Given the description of an element on the screen output the (x, y) to click on. 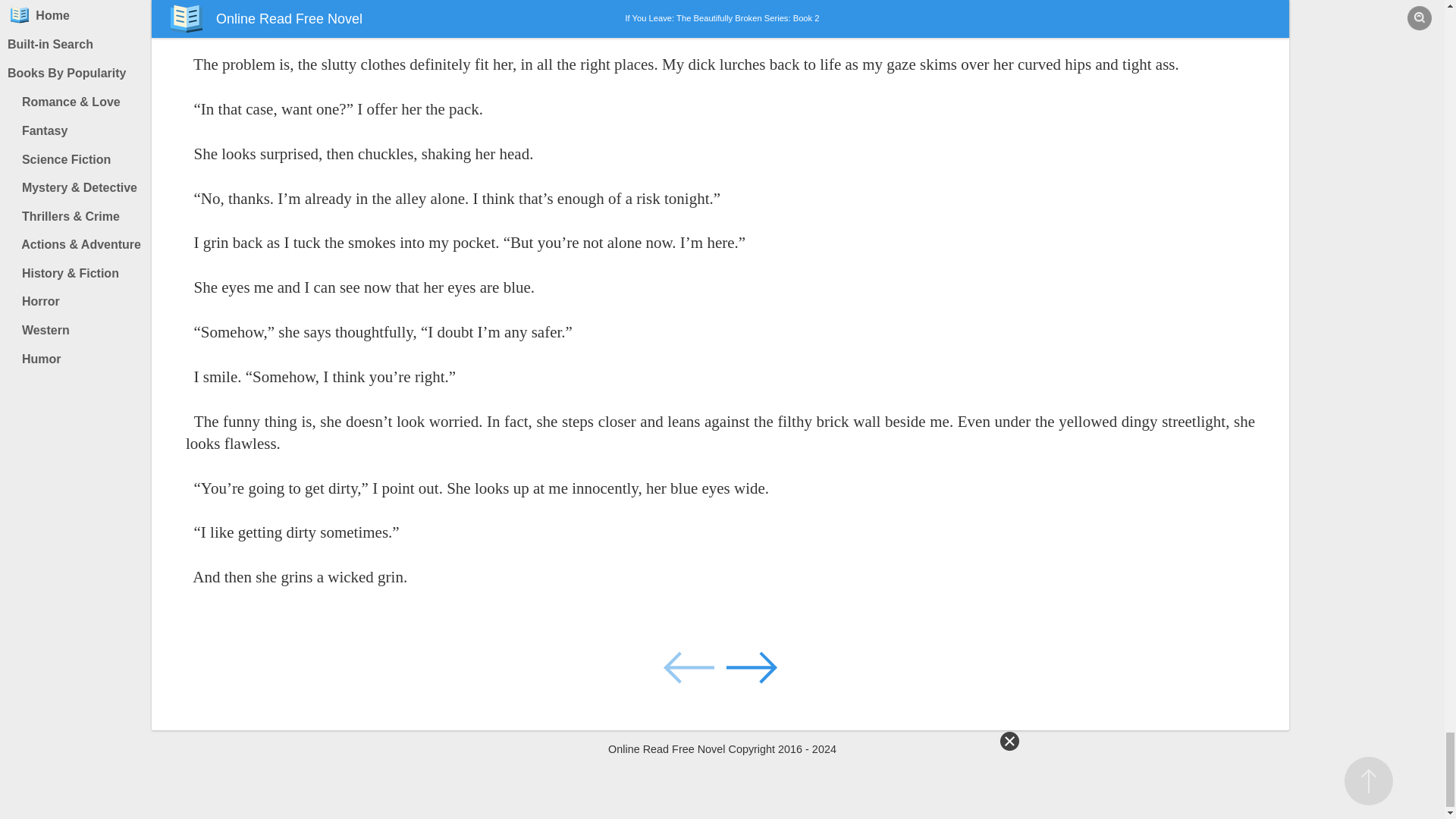
Next Page (751, 665)
Previous Page (690, 665)
